Given the description of an element on the screen output the (x, y) to click on. 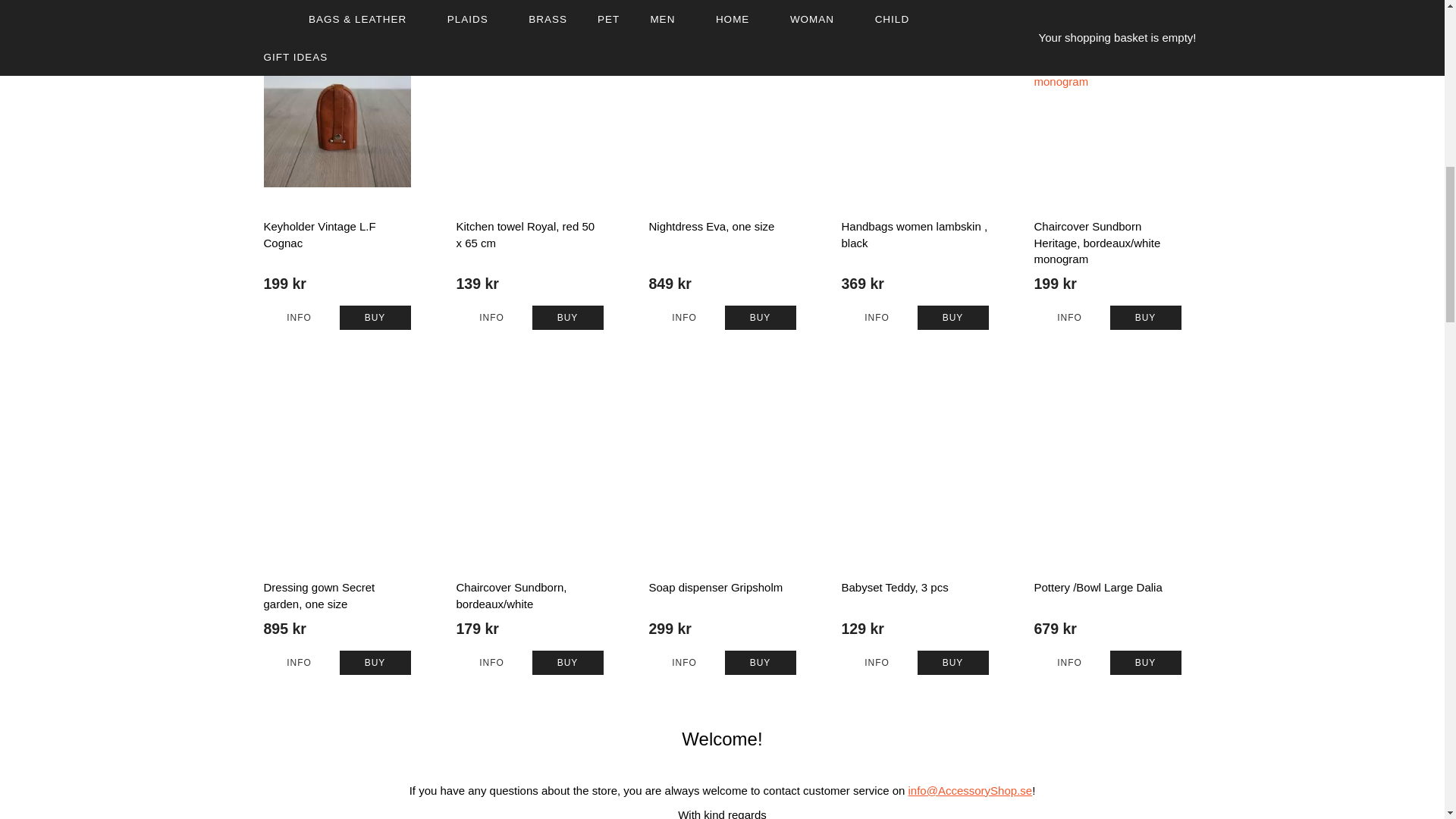
Soap dispenser Gripsholm (684, 662)
Babyset Teddy, 3 pcs (876, 662)
Keyholder Vintage L.F Cognac (298, 317)
Kitchen towel Royal, red 50 x 65 cm (492, 317)
Nightdress Eva, one size (684, 317)
Handbags women lambskin , black (876, 317)
Dressing gown Secret garden, one size (298, 662)
